Given the description of an element on the screen output the (x, y) to click on. 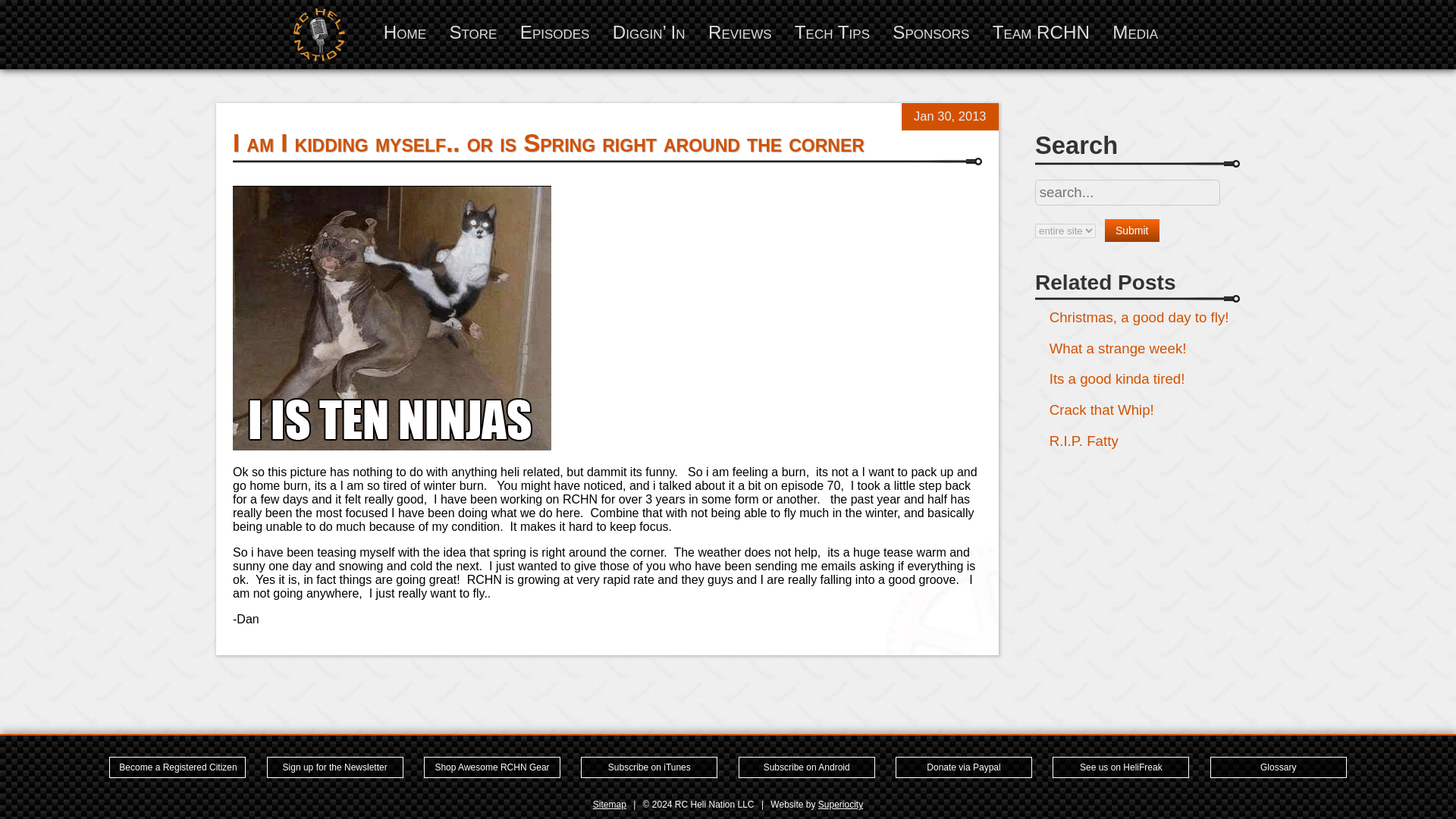
Submit (1131, 230)
Reviews (739, 32)
See us on HeliFreak (1120, 767)
What a strange week! (1117, 348)
Its a good kinda tired! (1117, 378)
Glossary (1277, 767)
Team RCHN (1040, 32)
Become a Registered Citizen (177, 767)
Subscribe on Android (806, 767)
Donate via Paypal (963, 767)
